Given the description of an element on the screen output the (x, y) to click on. 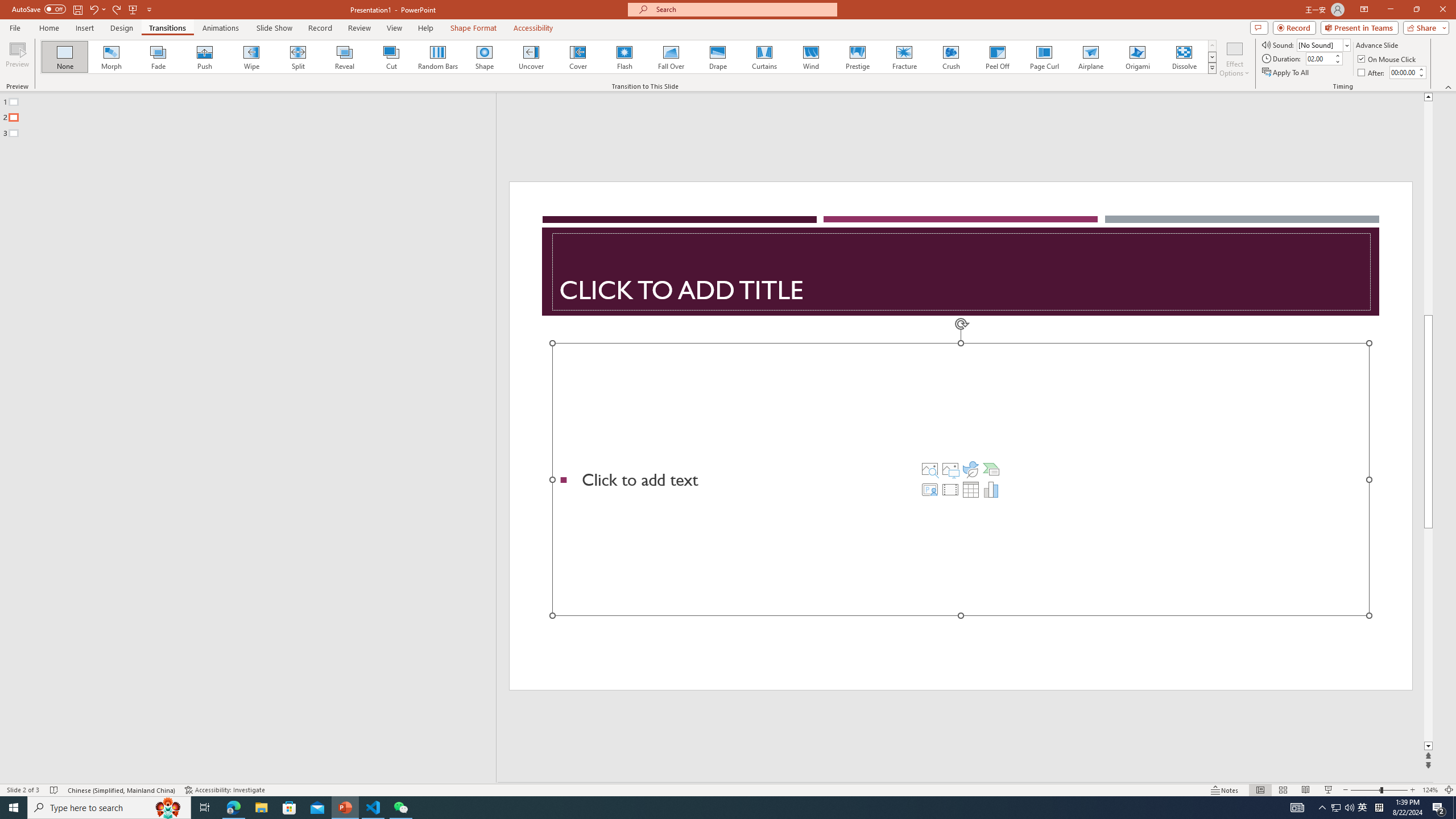
Transition Effects (1212, 67)
Prestige (857, 56)
Reveal (344, 56)
